Given the description of an element on the screen output the (x, y) to click on. 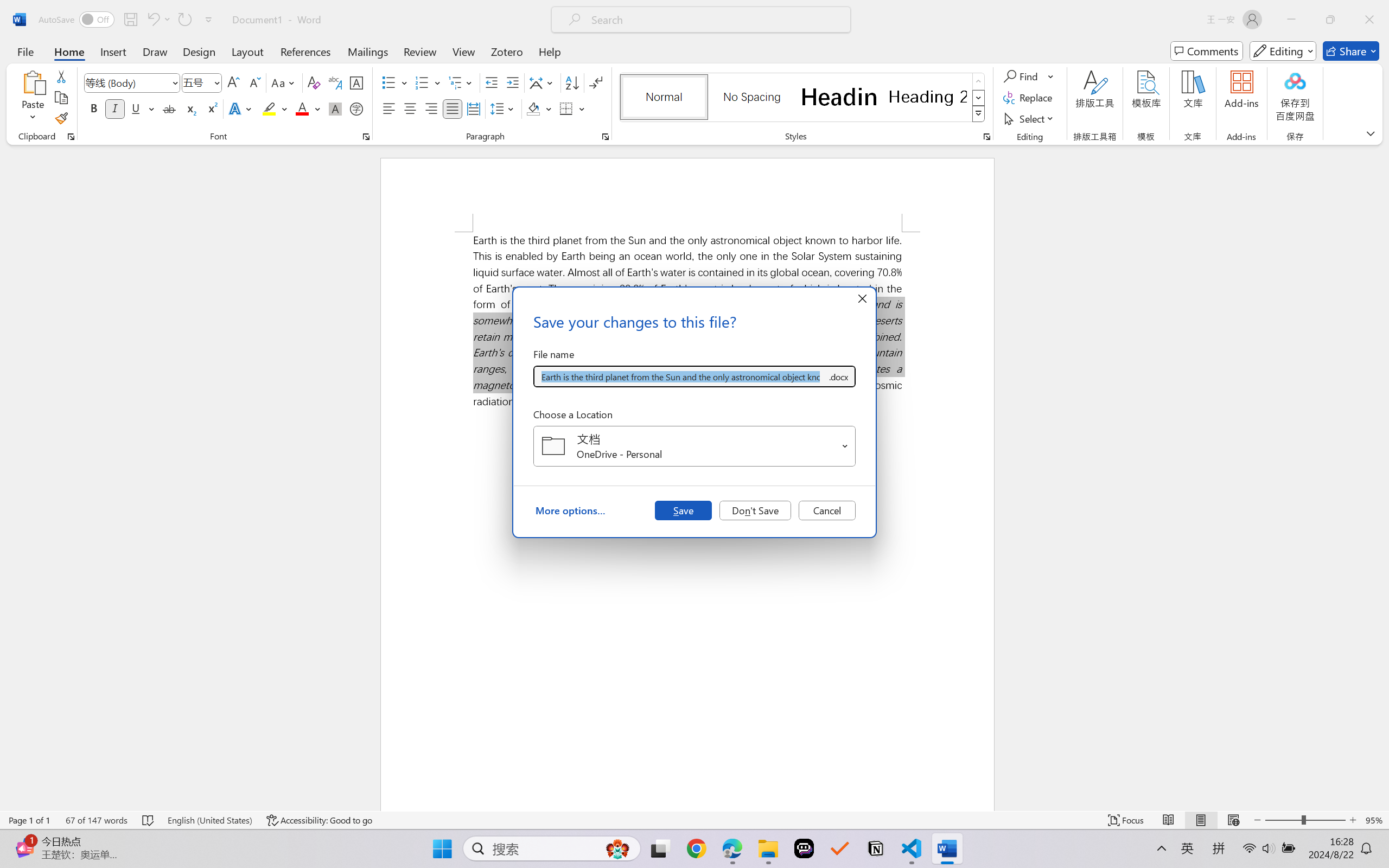
Text Highlight Color (274, 108)
Shading (539, 108)
Styles (978, 113)
Open (844, 446)
Cancel (826, 509)
Asian Layout (542, 82)
Enclose Characters... (356, 108)
Bold (94, 108)
Shrink Font (253, 82)
